Given the description of an element on the screen output the (x, y) to click on. 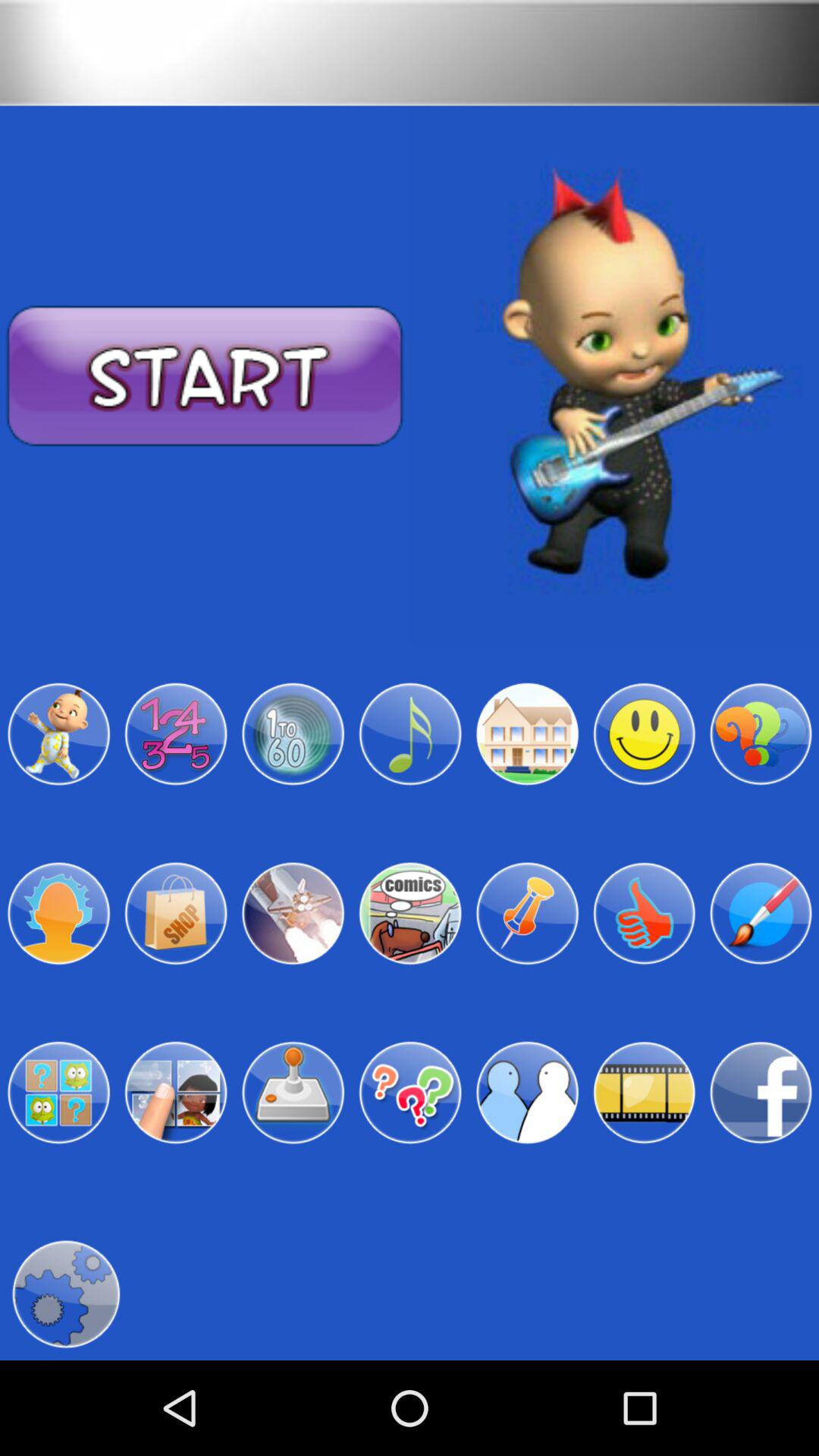
open app (409, 1092)
